Given the description of an element on the screen output the (x, y) to click on. 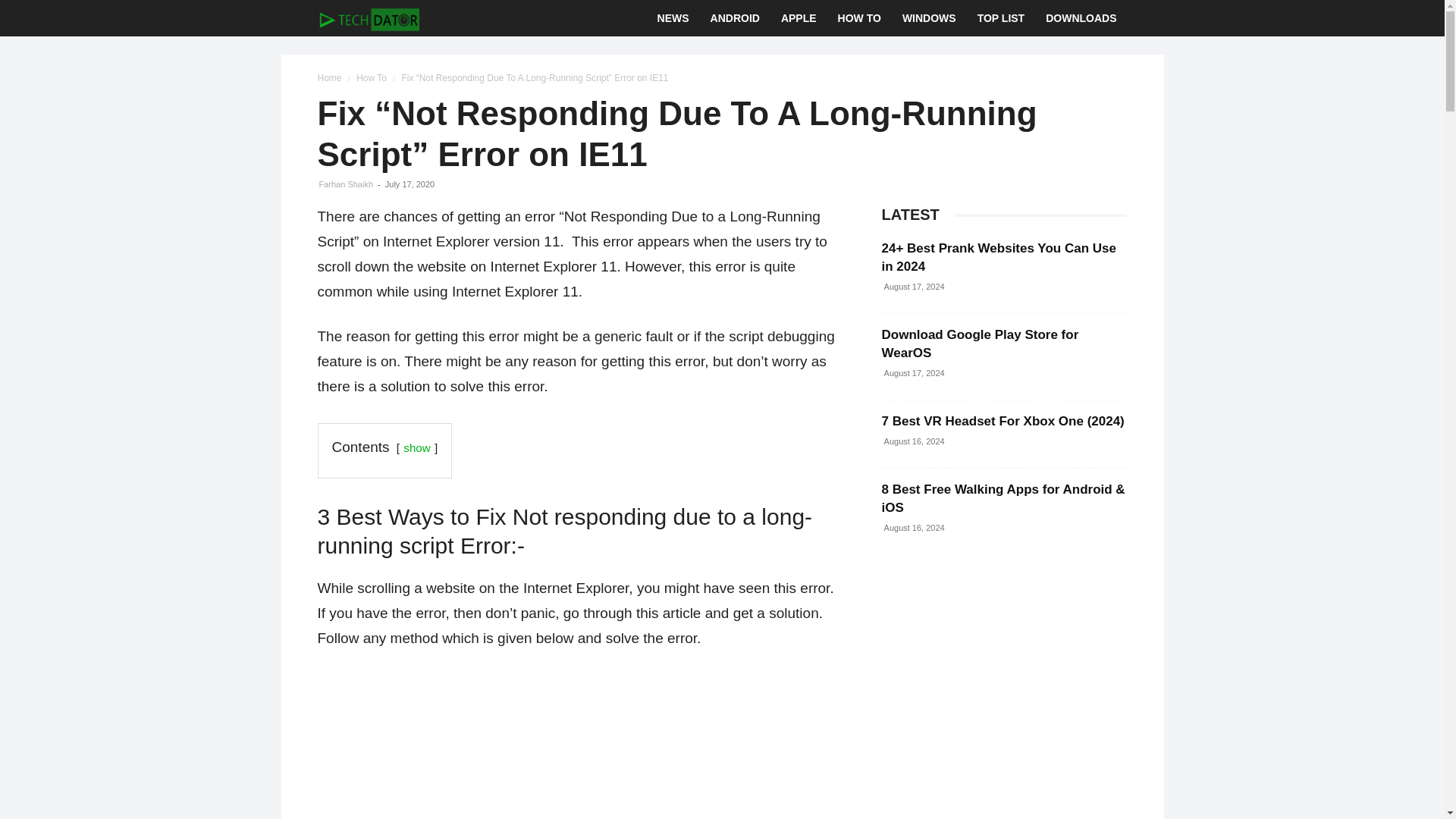
View all posts in How To (371, 77)
TechDator (368, 18)
NEWS (673, 18)
HOW TO (859, 18)
TOP LIST (1000, 18)
show (416, 447)
Home (328, 77)
DOWNLOADS (1080, 18)
How To (371, 77)
APPLE (798, 18)
